Given the description of an element on the screen output the (x, y) to click on. 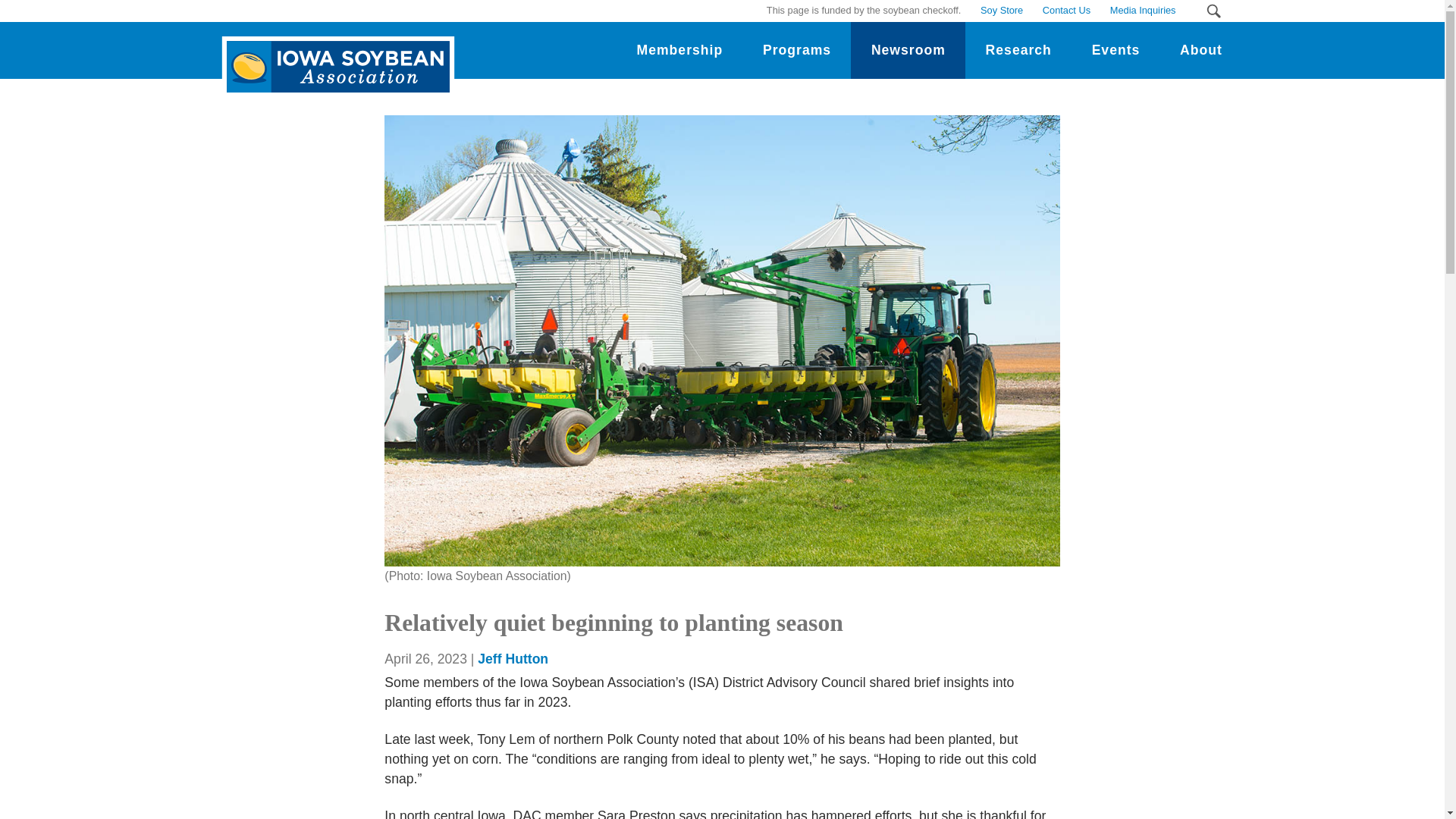
Programs (796, 50)
Iowa Soybean Association. Link to homepage (334, 54)
Search (1213, 11)
Soy Store (1001, 11)
Contact Us (1066, 11)
Membership (678, 50)
Events (1114, 50)
About (1201, 50)
Research (1018, 50)
